Given the description of an element on the screen output the (x, y) to click on. 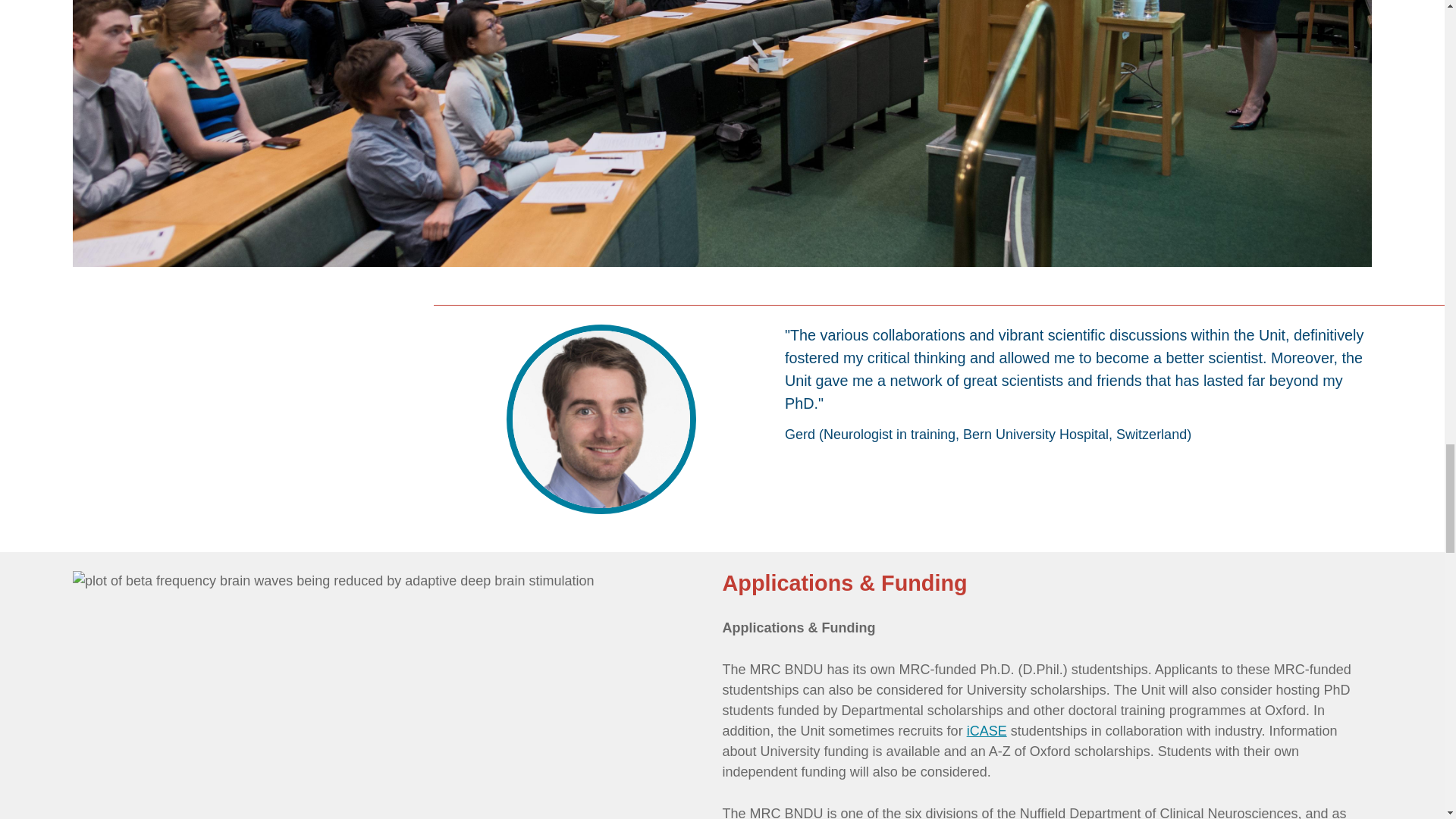
iCASE (986, 730)
